Given the description of an element on the screen output the (x, y) to click on. 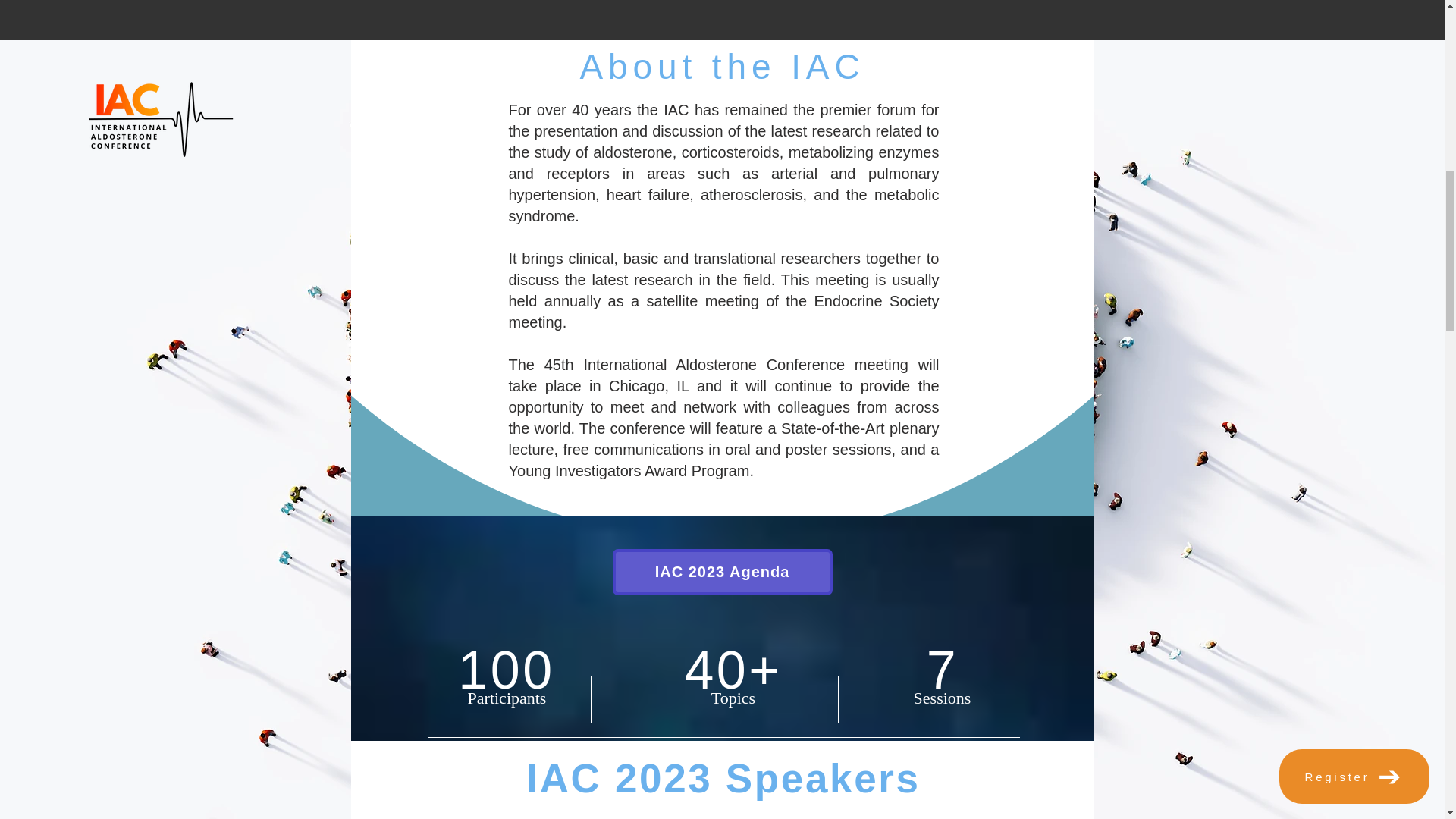
IAC 2023 Agenda (722, 571)
